Given the description of an element on the screen output the (x, y) to click on. 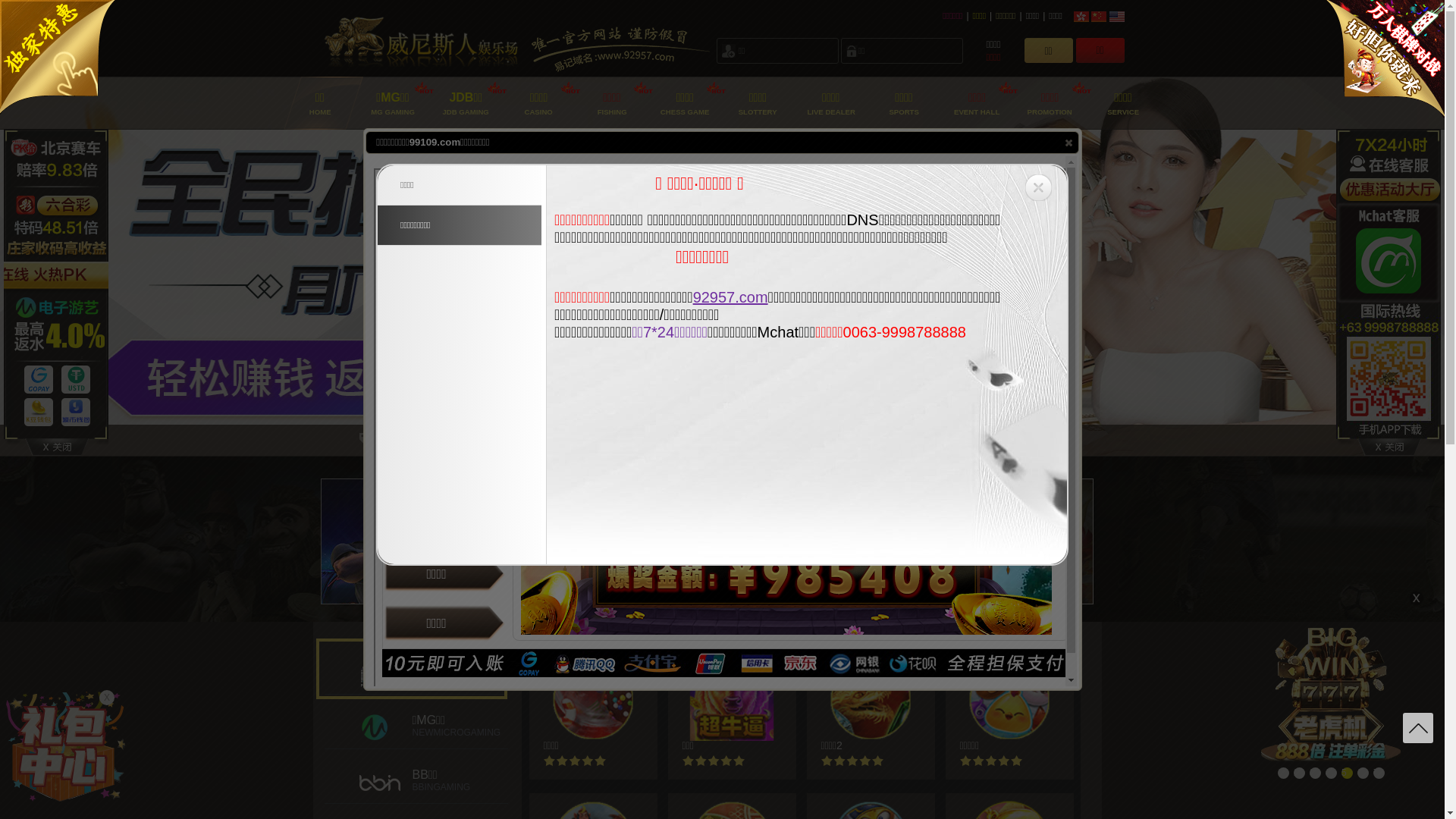
92957.com Element type: text (730, 296)
X Element type: text (106, 697)
close Element type: text (1067, 141)
